Given the description of an element on the screen output the (x, y) to click on. 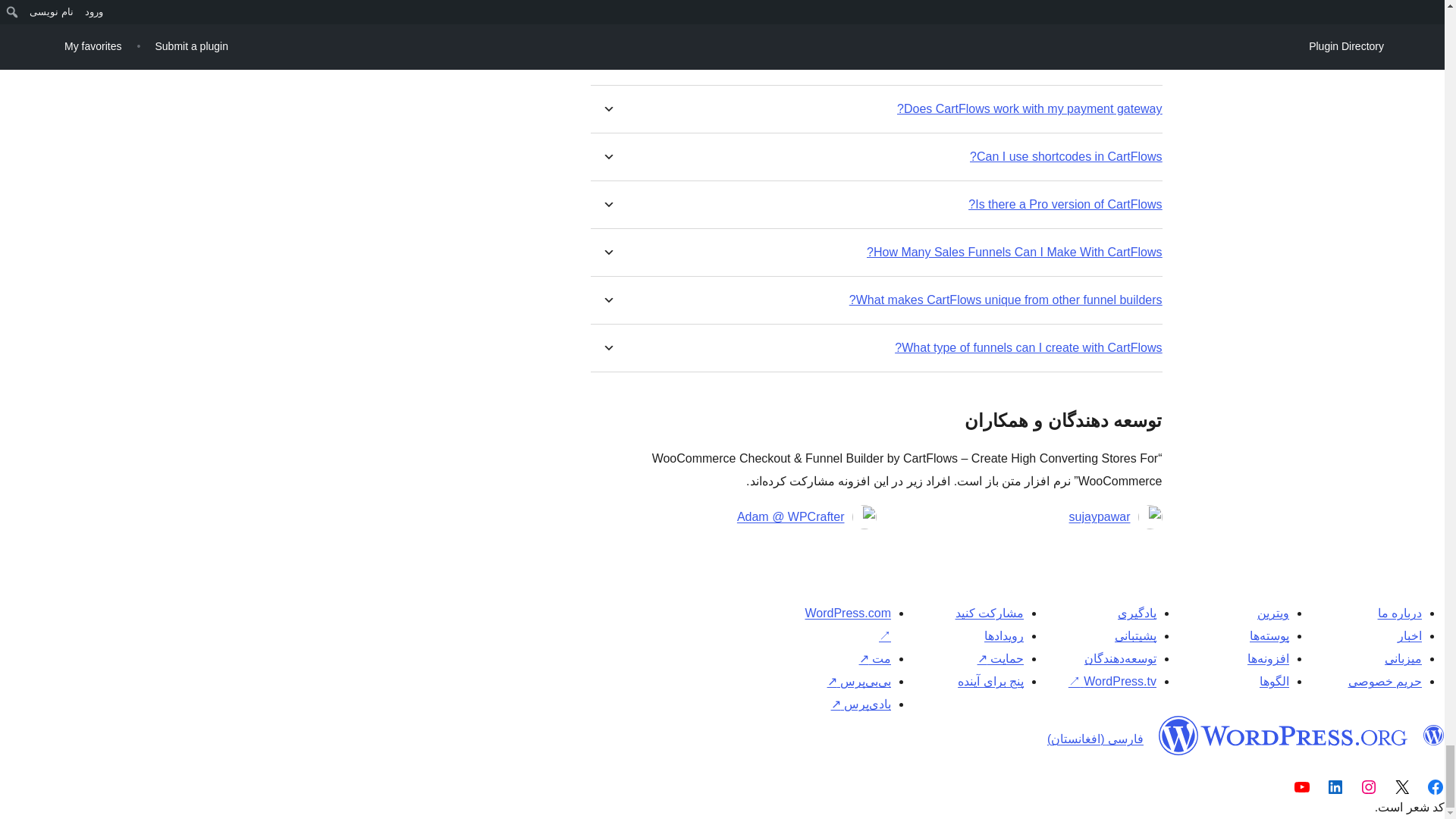
WordPress.org (1282, 735)
